Given the description of an element on the screen output the (x, y) to click on. 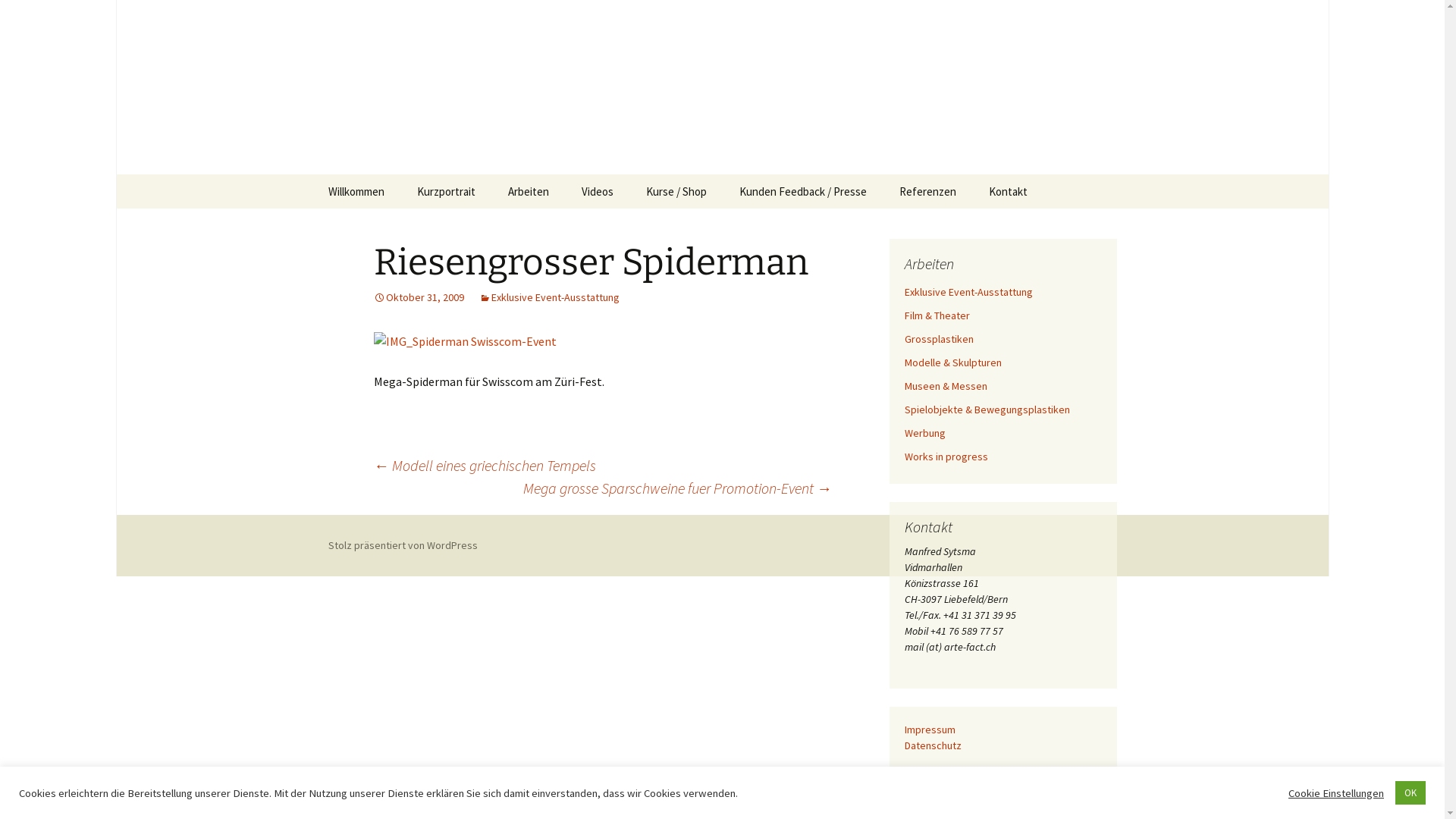
Oktober 31, 2009 Element type: text (418, 297)
Spielobjekte & Bewegungsplastiken Element type: text (986, 409)
Impressum Element type: text (928, 729)
Suche Element type: text (18, 16)
Datenschutz Element type: text (931, 745)
Werbung Element type: text (923, 432)
Arbeiten Element type: text (528, 191)
Exklusive Event-Ausstattung Element type: text (549, 297)
Exklusive Event-Ausstattung Element type: text (967, 291)
Kunden Feedback / Presse Element type: text (802, 191)
Modelle & Skulpturen Element type: text (952, 362)
Referenzen Element type: text (927, 191)
Willkommen Element type: text (355, 191)
Kurse / Shop Element type: text (675, 191)
Works in progress Element type: text (945, 456)
Videos Element type: text (596, 191)
Kontakt Element type: text (1007, 191)
Film & Theater Element type: text (936, 315)
Kurzportrait Element type: text (445, 191)
Museen & Messen Element type: text (944, 385)
Zum Inhalt springen Element type: text (312, 174)
Cookie Einstellungen Element type: text (1335, 792)
OK Element type: text (1410, 792)
Grossplastiken Element type: text (937, 338)
